Given the description of an element on the screen output the (x, y) to click on. 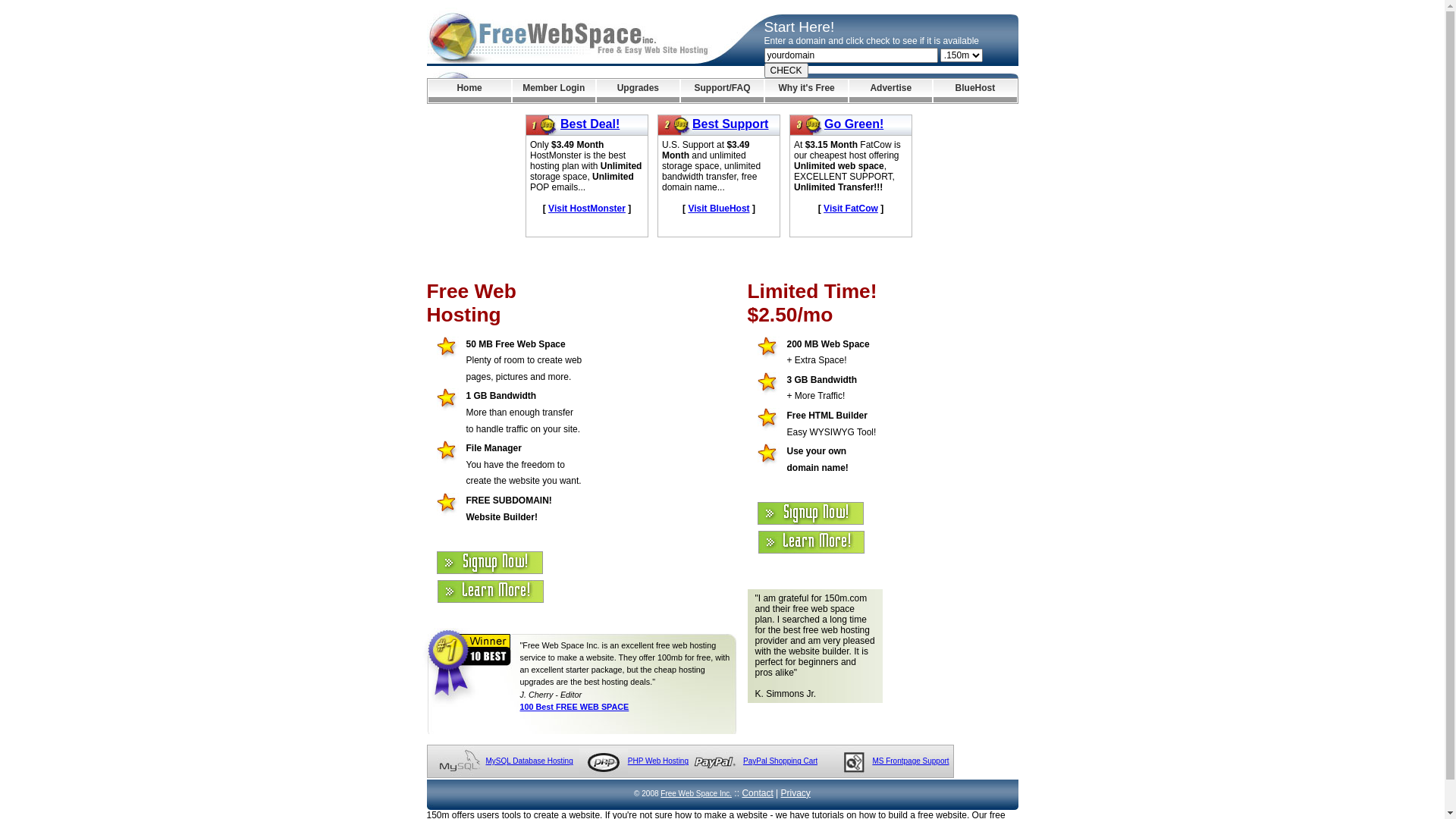
CHECK Element type: text (786, 70)
MS Frontpage Support Element type: text (910, 760)
100 Best FREE WEB SPACE Element type: text (574, 706)
Upgrades Element type: text (637, 90)
Home Element type: text (468, 90)
BlueHost Element type: text (974, 90)
Member Login Element type: text (553, 90)
Privacy Element type: text (795, 792)
Advertise Element type: text (890, 90)
PayPal Shopping Cart Element type: text (780, 760)
Why it's Free Element type: text (806, 90)
Support/FAQ Element type: text (721, 90)
Contact Element type: text (756, 792)
Free Web Space Inc. Element type: text (695, 793)
MySQL Database Hosting Element type: text (528, 760)
PHP Web Hosting Element type: text (657, 760)
